Given the description of an element on the screen output the (x, y) to click on. 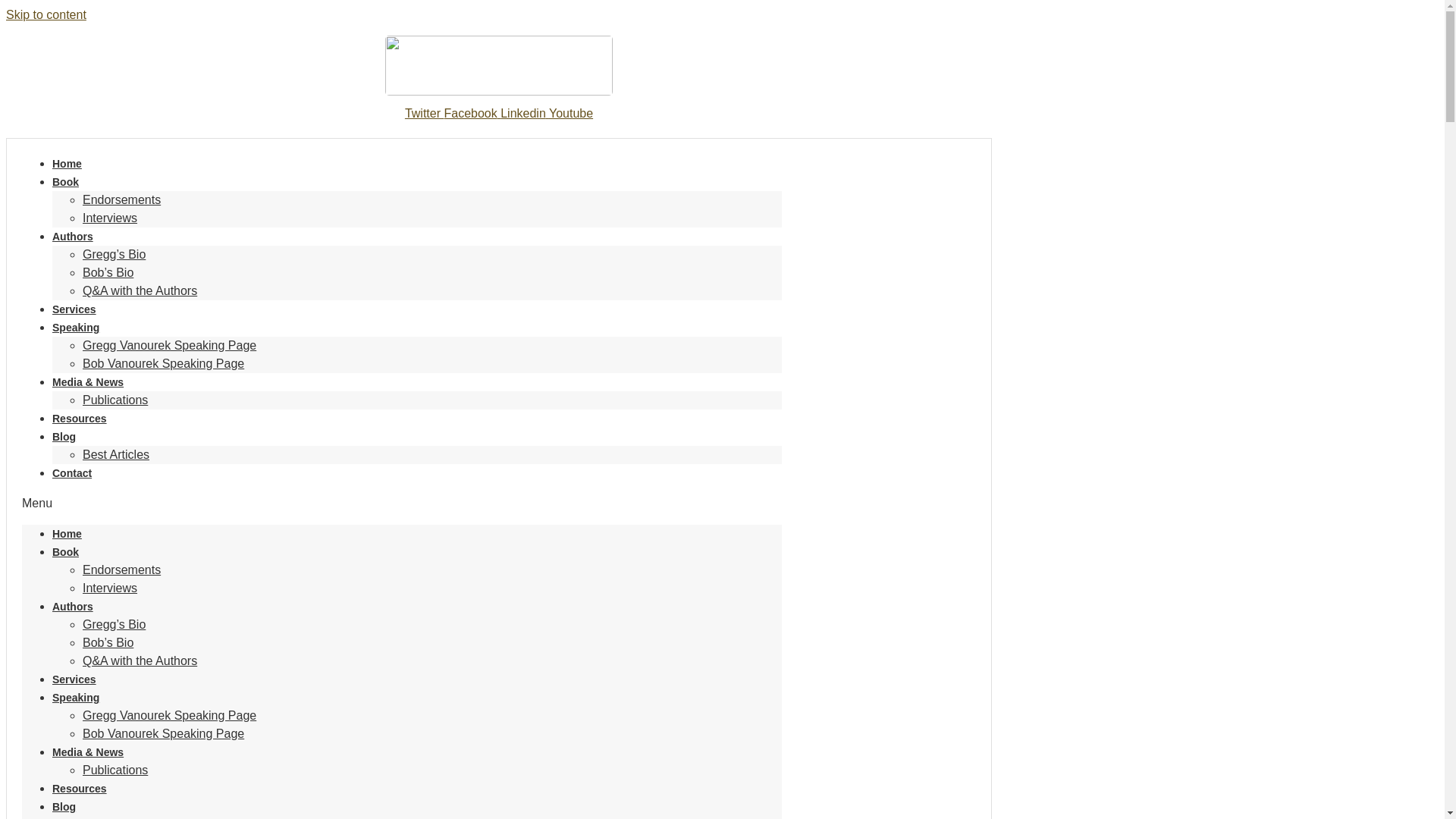
Twitter (424, 113)
Publications (115, 769)
Facebook (472, 113)
Book (65, 551)
Contact (71, 472)
Authors (72, 236)
Speaking (75, 327)
Home (66, 163)
Blog (63, 806)
Bob Vanourek Speaking Page (163, 363)
